Given the description of an element on the screen output the (x, y) to click on. 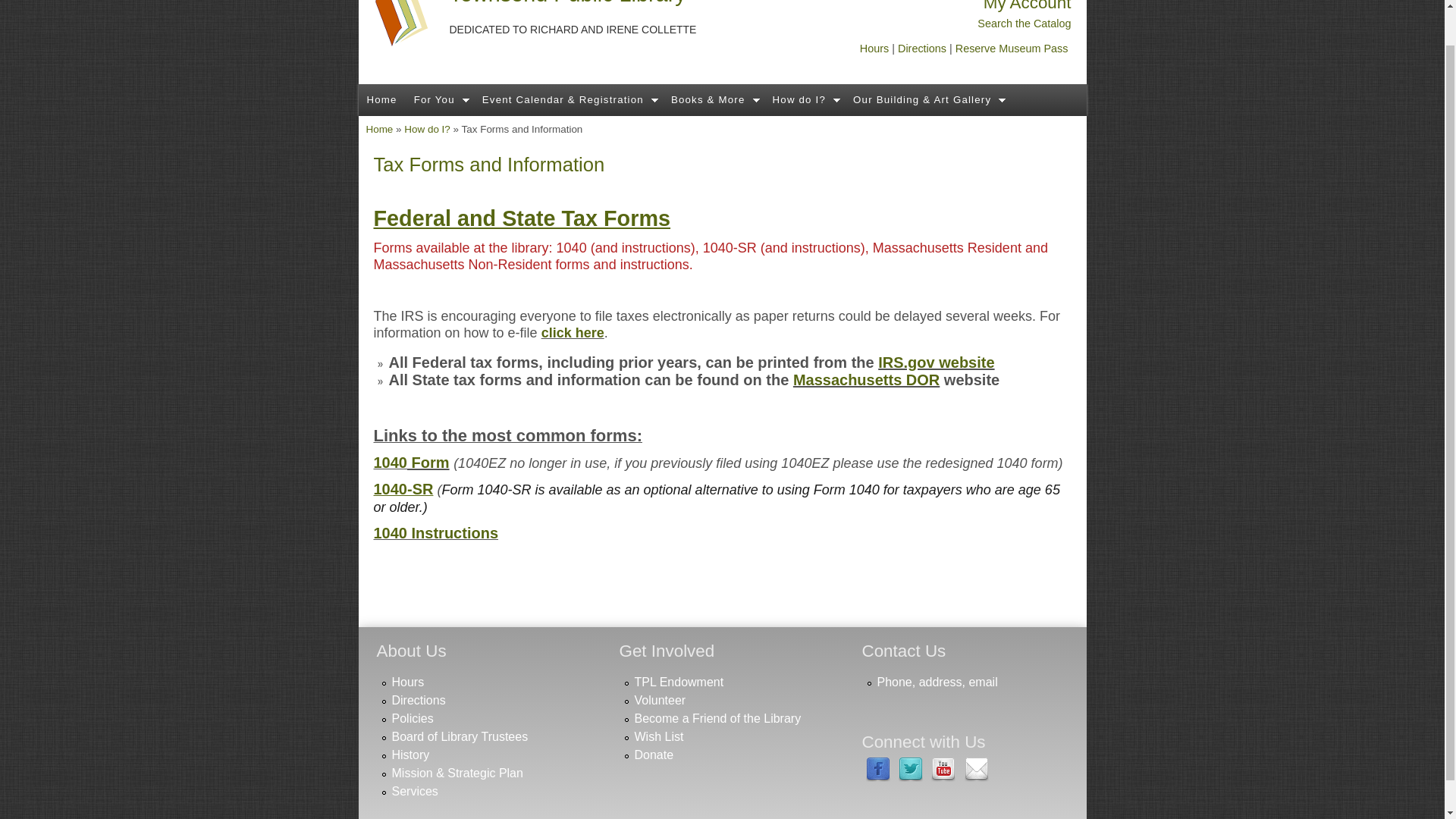
Discover Book and Movie suggestions. (713, 100)
For You (440, 100)
Hours (874, 48)
Home (381, 100)
Townsend Public Library (566, 2)
How do I? (804, 100)
Home (566, 2)
Reserve Museum Pass (1011, 48)
Discover what's happening at the library for all ages. (568, 100)
Search the Catalog (1023, 23)
